Given the description of an element on the screen output the (x, y) to click on. 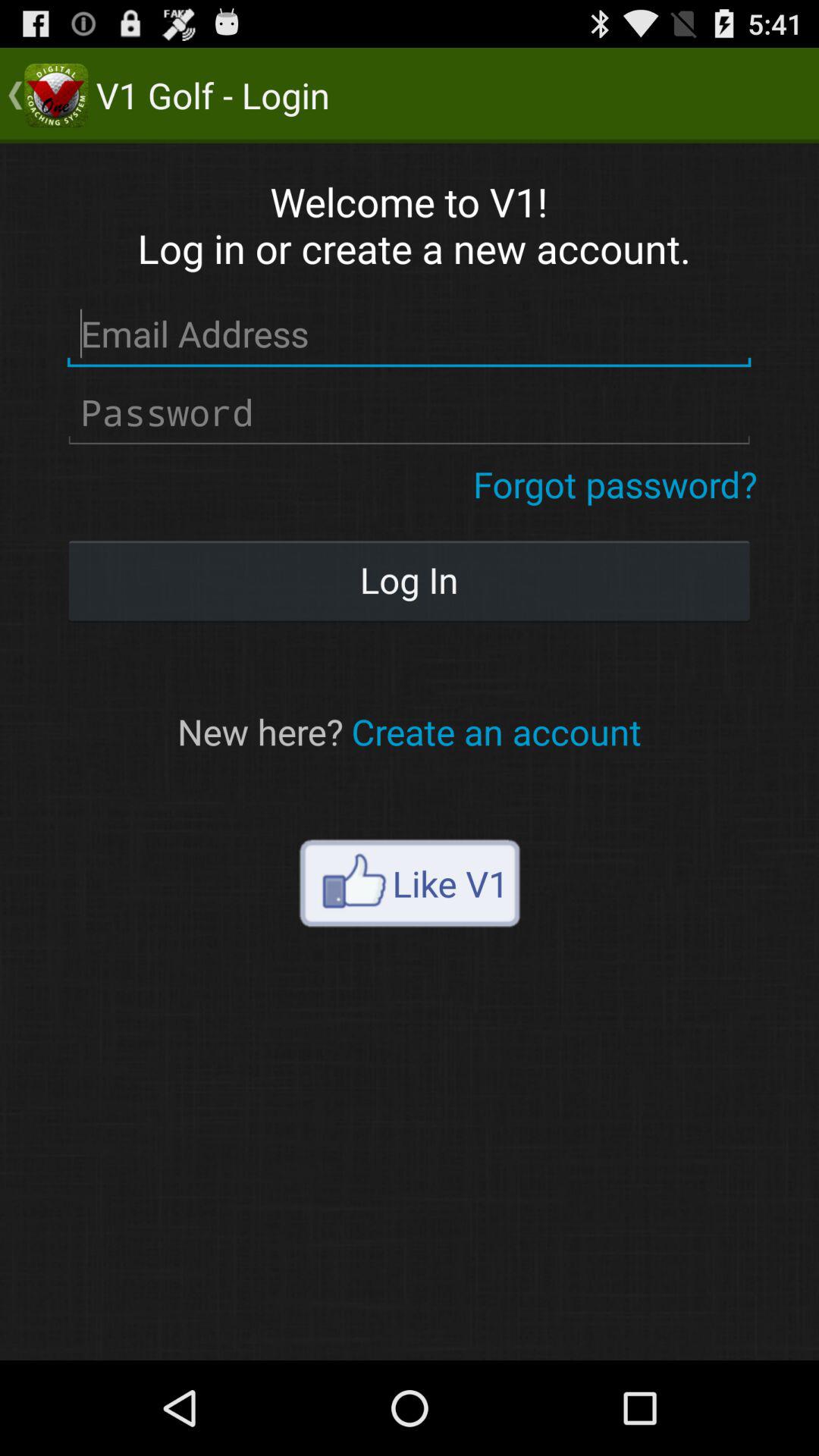
password area (408, 412)
